Given the description of an element on the screen output the (x, y) to click on. 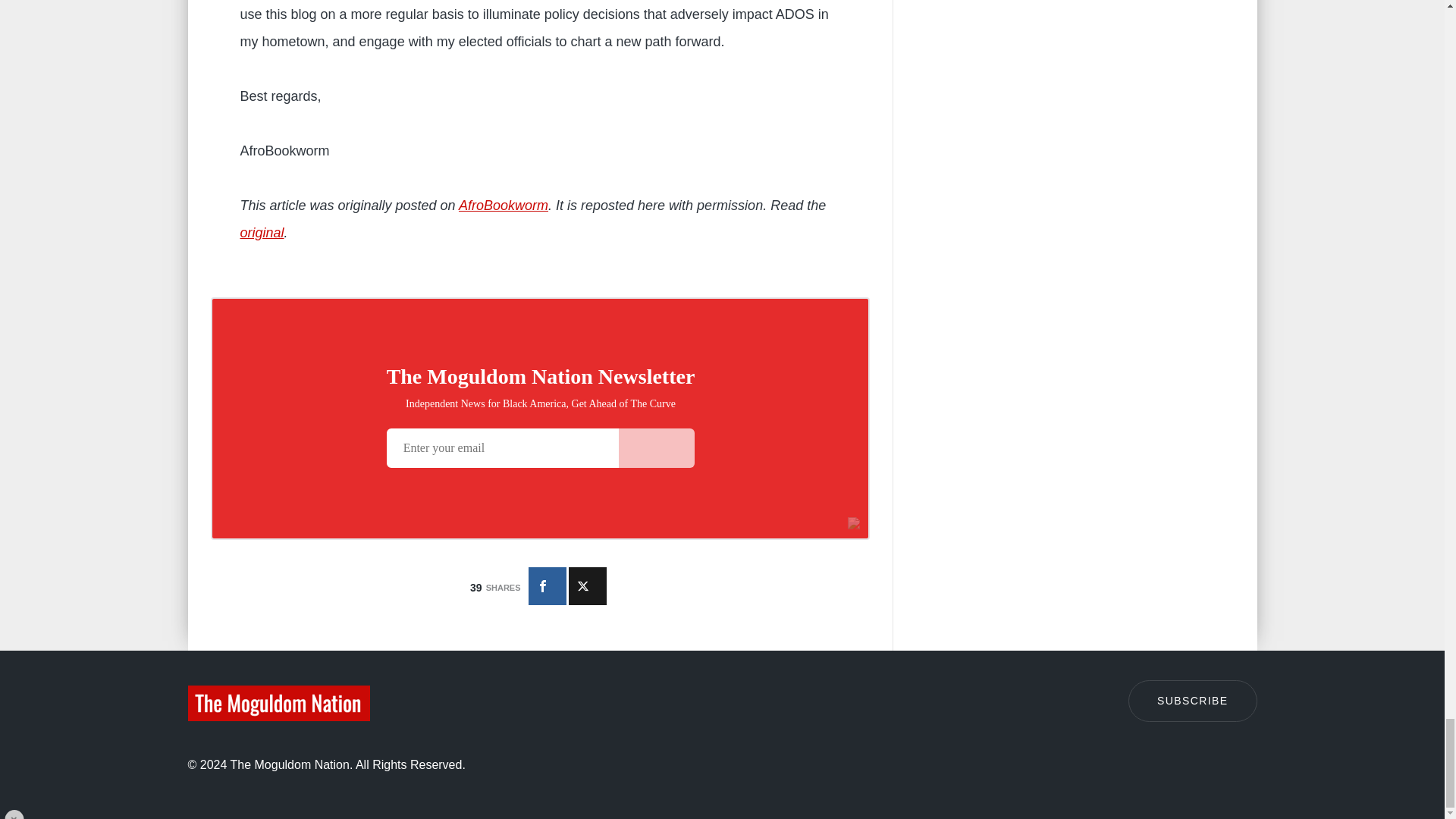
SHARE (546, 586)
SUBSCRIBE (1192, 700)
AfroBookworm (503, 205)
original (261, 232)
TWEET (588, 586)
